Given the description of an element on the screen output the (x, y) to click on. 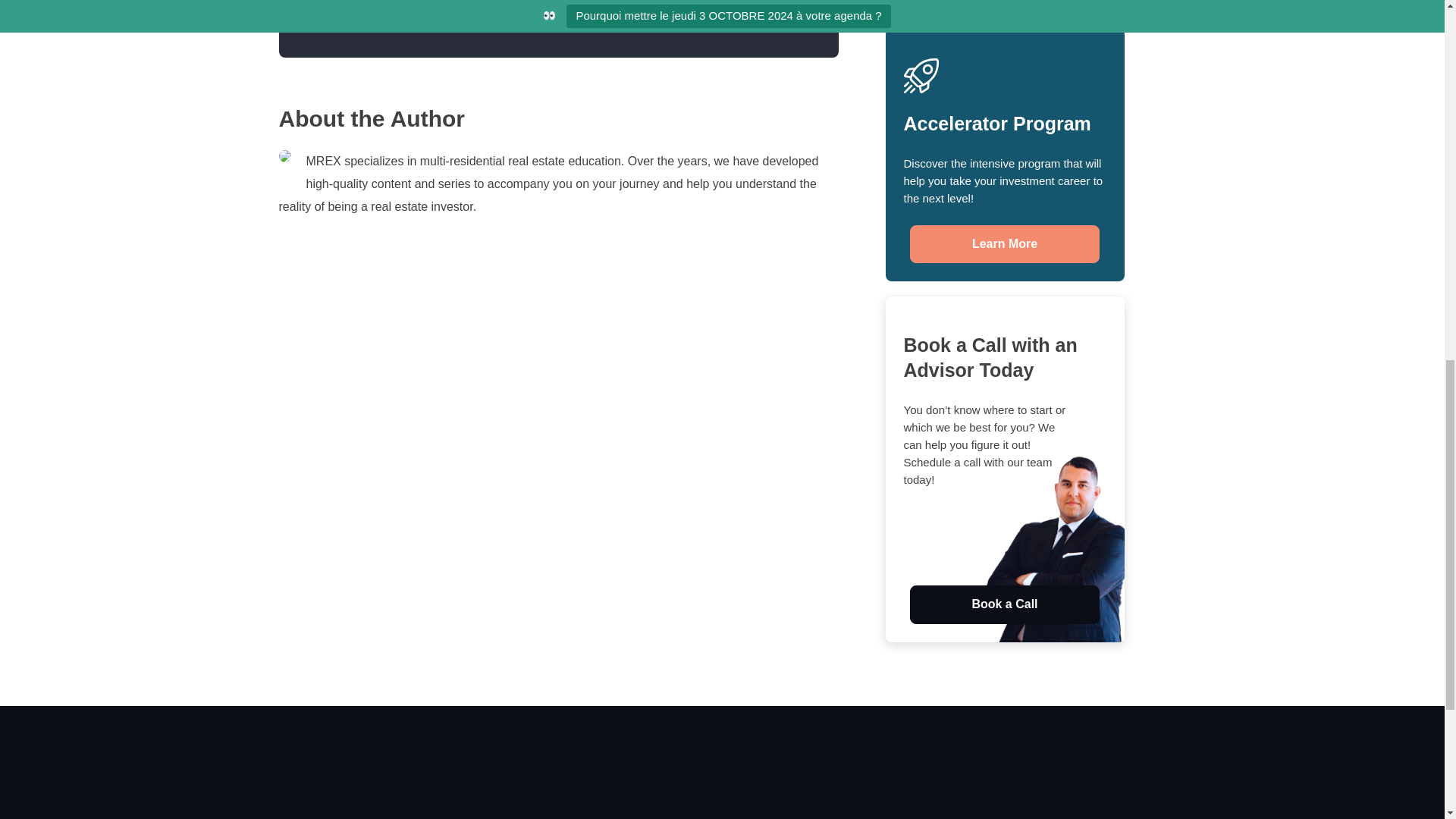
Soumettre (740, 9)
